Given the description of an element on the screen output the (x, y) to click on. 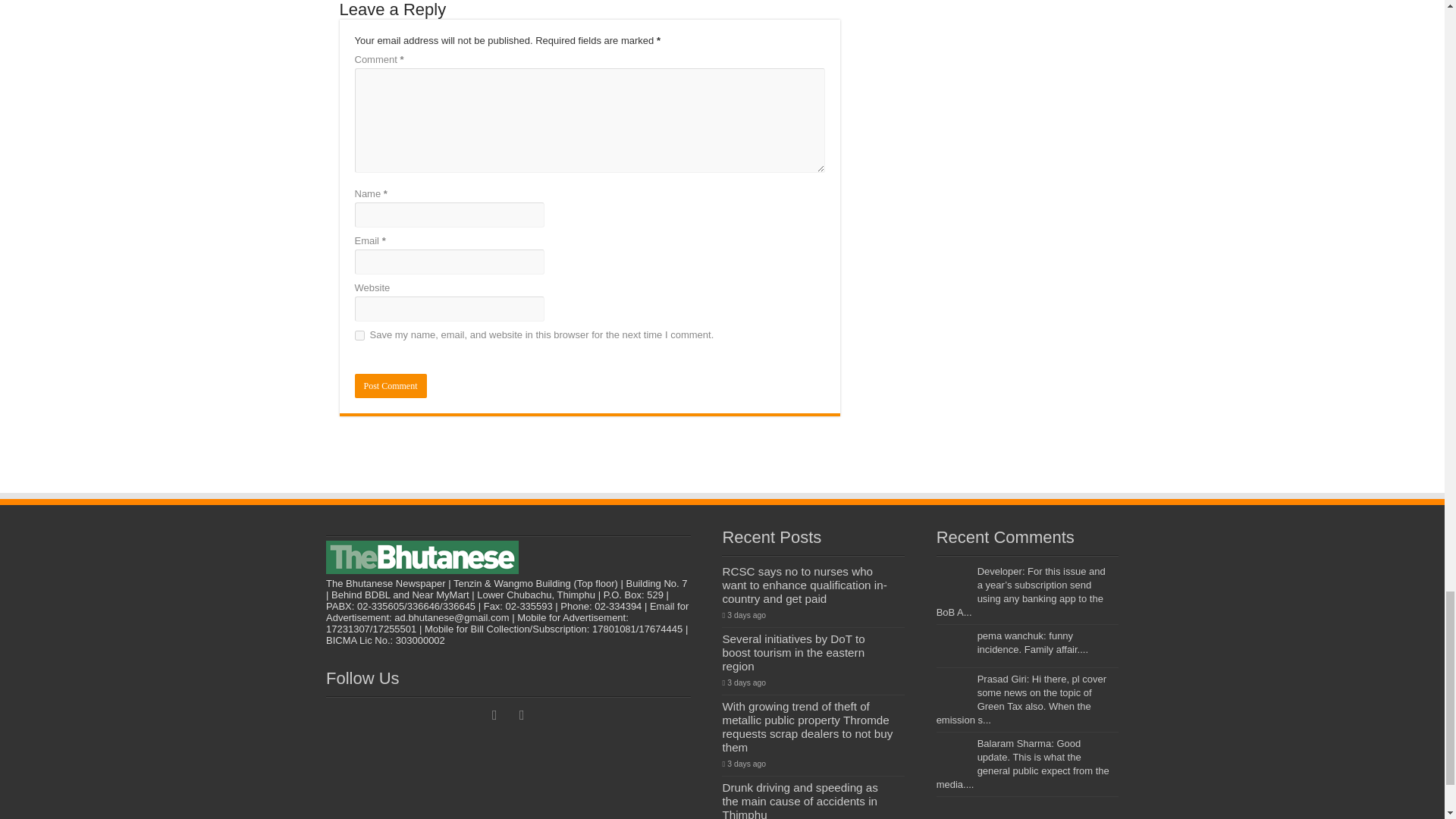
Post Comment (390, 385)
yes (360, 335)
